Given the description of an element on the screen output the (x, y) to click on. 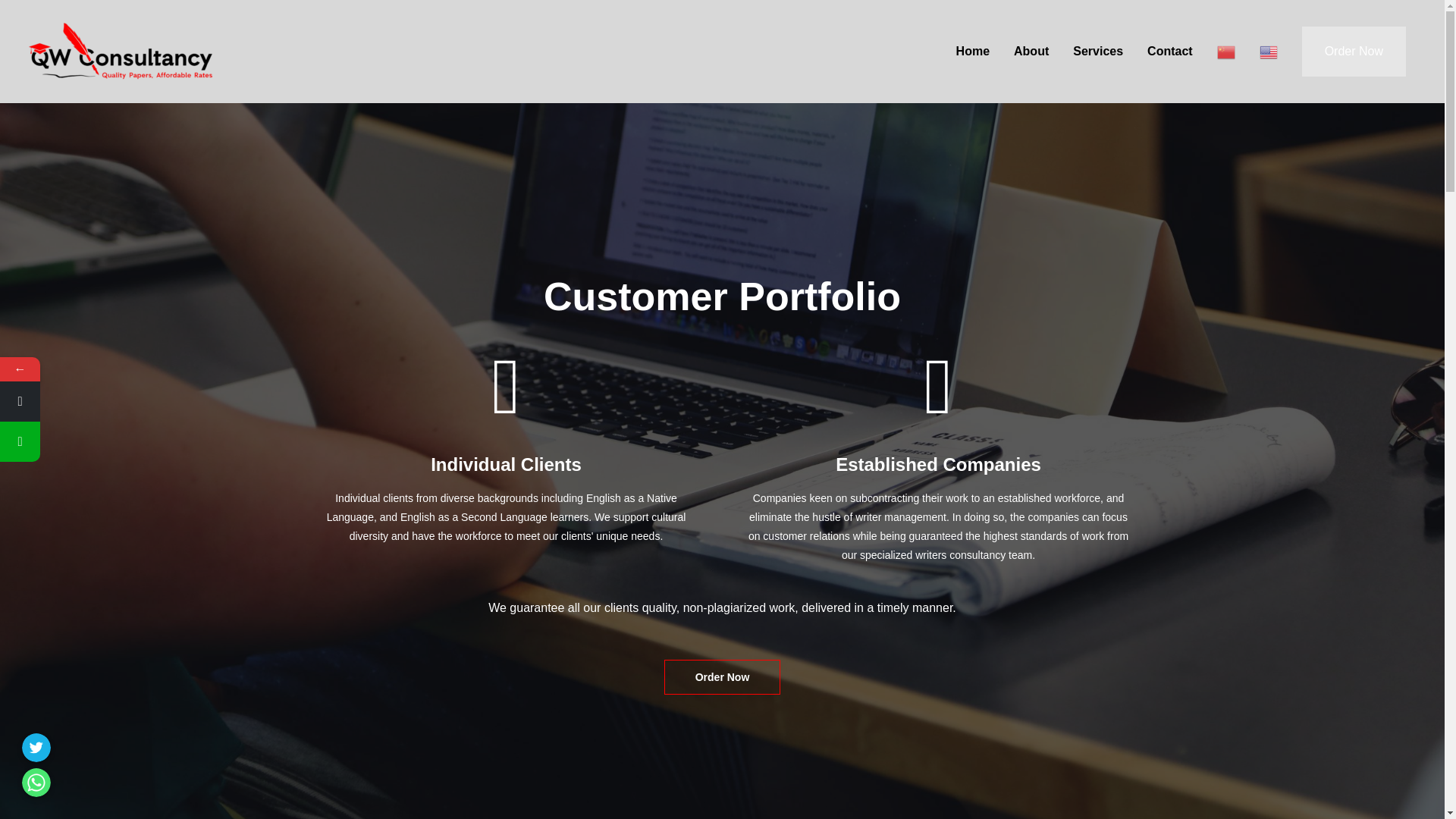
About (1031, 51)
Contact (1170, 51)
Whatsapp (35, 782)
Services (1098, 51)
Twitter (35, 747)
Order Now (721, 677)
Home (972, 51)
Order Now (1353, 51)
